Given the description of an element on the screen output the (x, y) to click on. 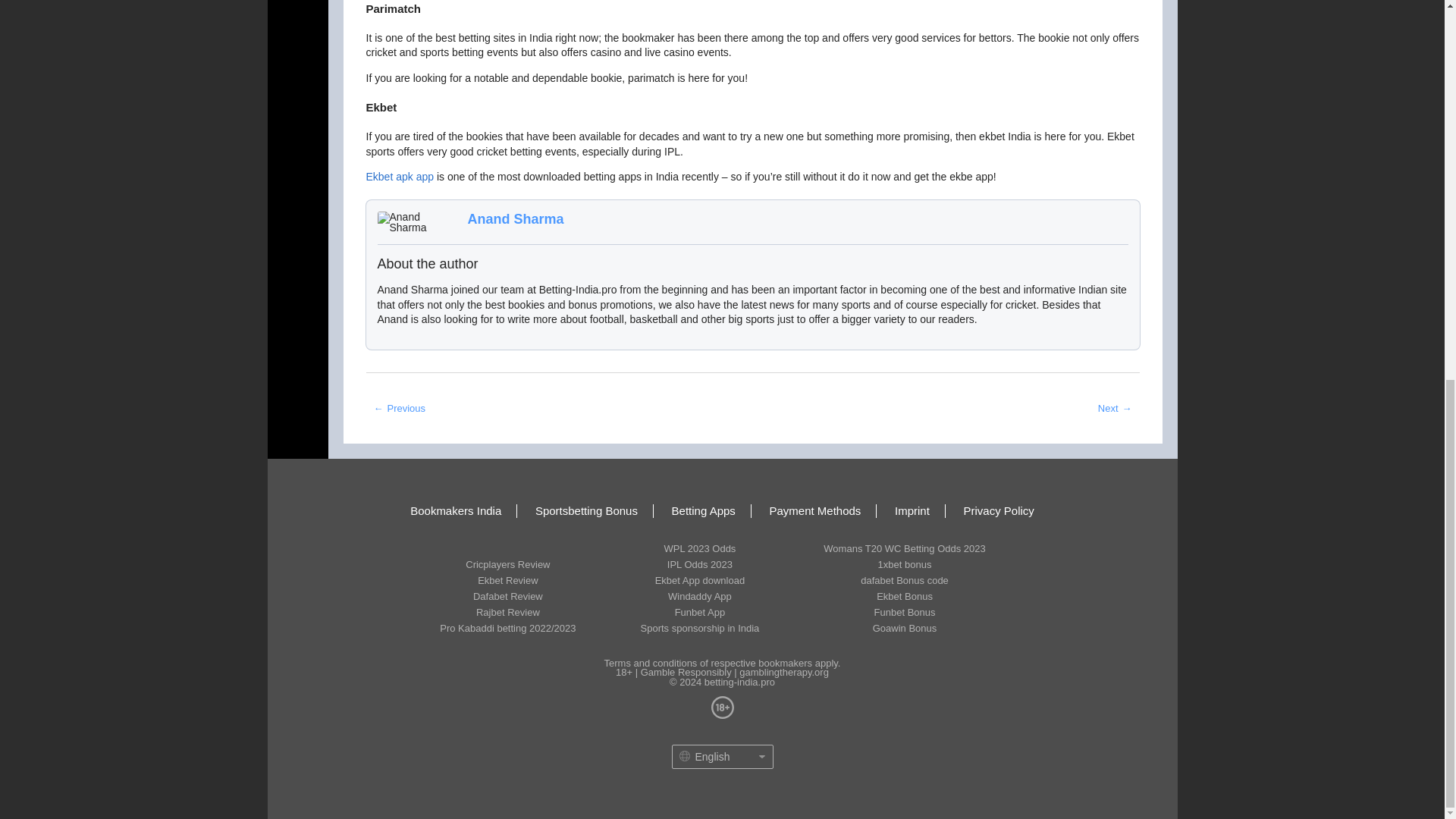
Payment Methods (815, 510)
dafabet Bonus code (904, 580)
Imprint (911, 510)
IPL Odds 2023 (700, 564)
WPL 2023 Odds (700, 548)
Dafabet Review (507, 596)
Privacy Policy (997, 510)
Windaddy App (700, 596)
English (700, 756)
Rajbet Review (507, 611)
Cricplayers Review (507, 564)
Funbet Bonus (904, 611)
Ekbet App download (700, 580)
Ekbet Bonus (904, 596)
Ekbet apk app (399, 176)
